Given the description of an element on the screen output the (x, y) to click on. 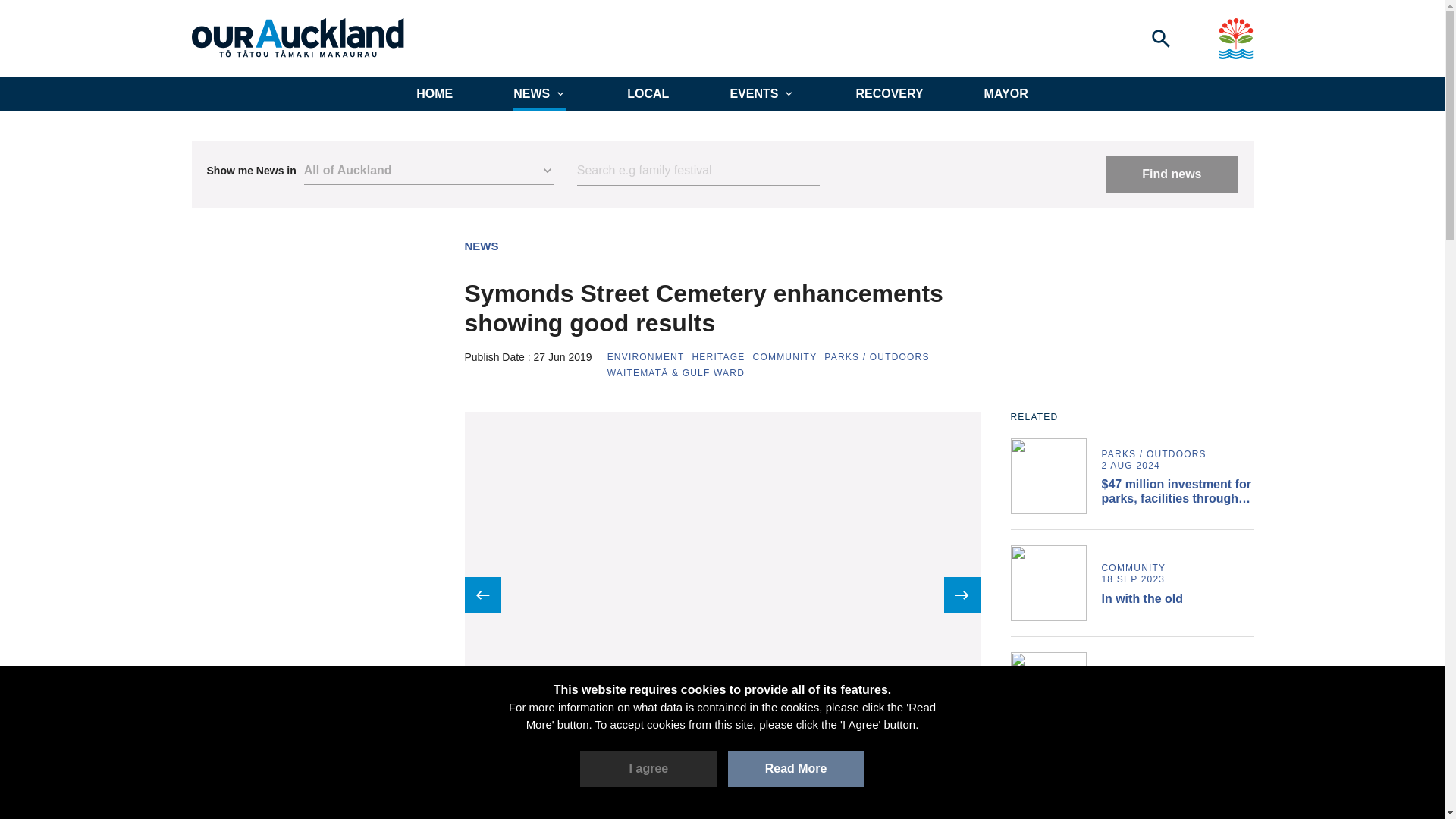
Find news (1171, 174)
NEWS (539, 93)
LOCAL (647, 93)
NEWS (480, 245)
HERITAGE (717, 357)
Search (697, 170)
COMMUNITY (784, 357)
RECOVERY (889, 93)
ENVIRONMENT (645, 357)
HOME (434, 93)
Toggle search (1160, 38)
MAYOR (1005, 93)
EVENTS (761, 93)
